Given the description of an element on the screen output the (x, y) to click on. 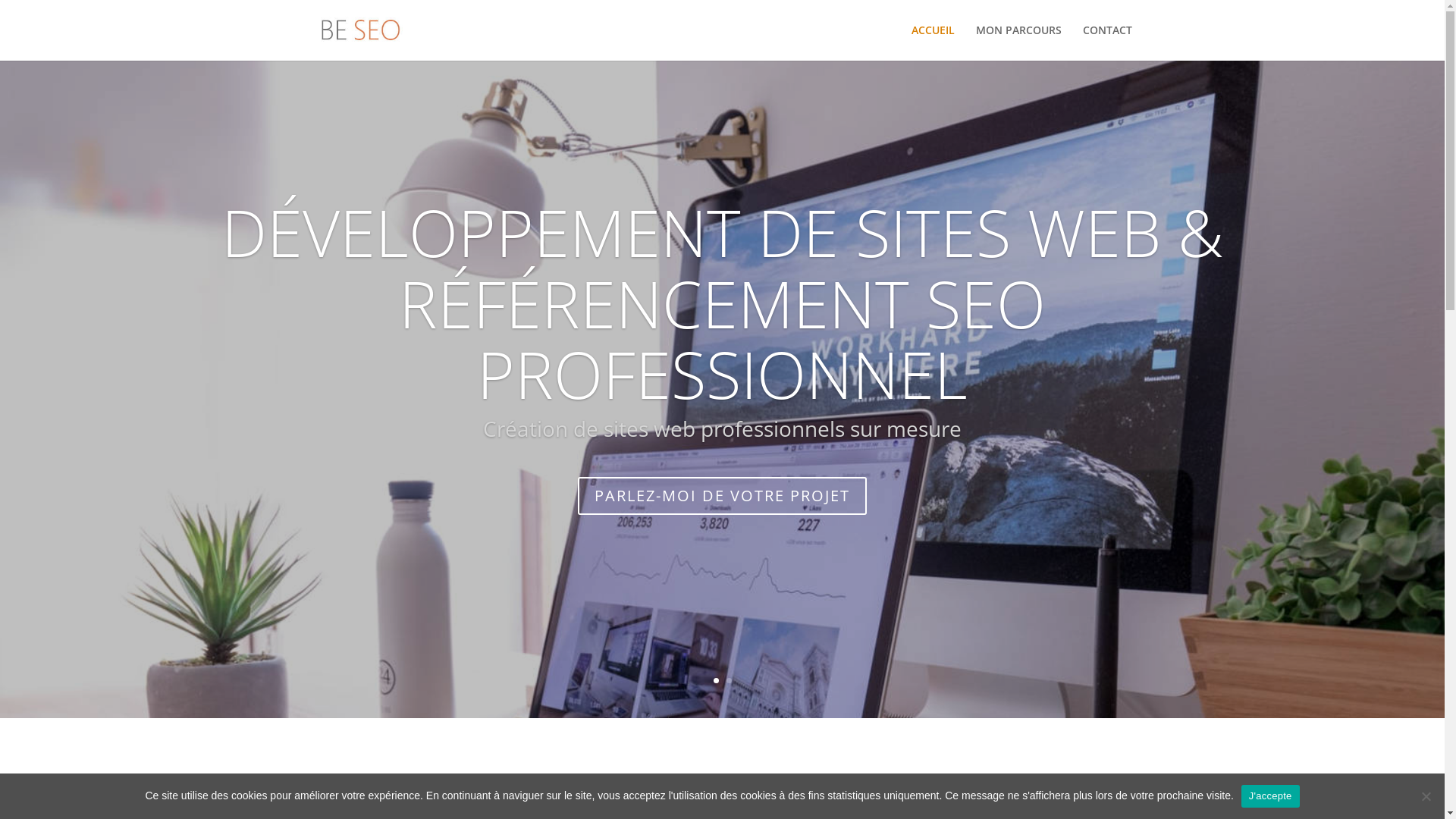
PARLEZ-MOI DE VOTRE PROJET Element type: text (721, 495)
Je refuse Element type: hover (1425, 795)
1 Element type: text (715, 680)
J'accepte Element type: text (1270, 795)
MON PARCOURS Element type: text (1017, 42)
CONTACT Element type: text (1107, 42)
ACCUEIL Element type: text (932, 42)
2 Element type: text (728, 680)
